Given the description of an element on the screen output the (x, y) to click on. 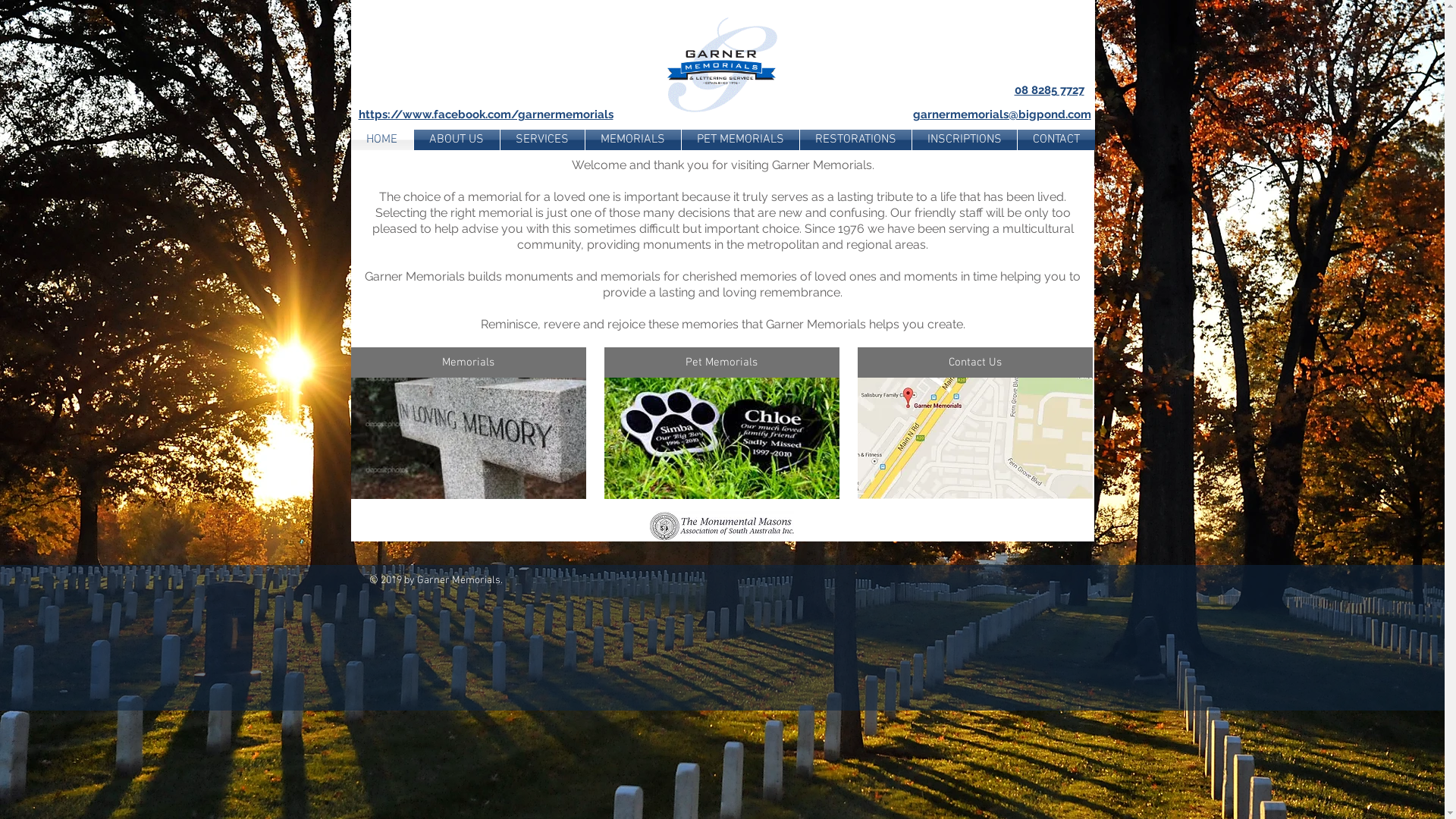
CONTACT Element type: text (1056, 139)
Contact Us Element type: text (974, 362)
PET MEMORIALS Element type: text (739, 139)
HOME Element type: text (381, 139)
Memorials Element type: text (467, 362)
TWIPLA (Visitor Analytics) Element type: hover (1066, 670)
ABOUT US Element type: text (456, 139)
MEMORIALS Element type: text (632, 139)
https://www.facebook.com/garnermemorials Element type: text (484, 115)
RESTORATIONS Element type: text (854, 139)
garnermemorials@bigpond.com Element type: text (1002, 115)
INSCRIPTIONS Element type: text (963, 139)
SERVICES Element type: text (542, 139)
08 8285 7727 Element type: text (1049, 90)
Pet Memorials Element type: text (720, 362)
